Given the description of an element on the screen output the (x, y) to click on. 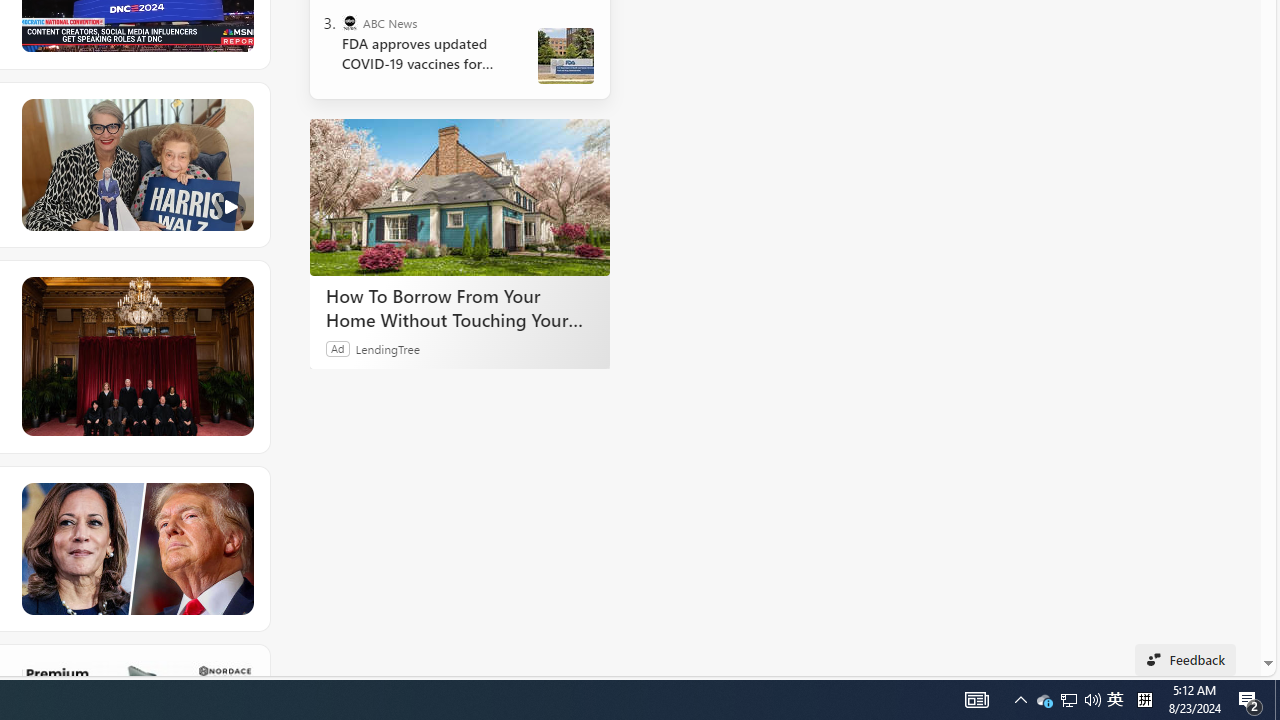
How To Borrow From Your Home Without Touching Your Mortgage (459, 307)
How To Borrow From Your Home Without Touching Your Mortgage (459, 196)
LendingTree (387, 348)
Class: hero-image (136, 165)
ABC News (349, 22)
